Given the description of an element on the screen output the (x, y) to click on. 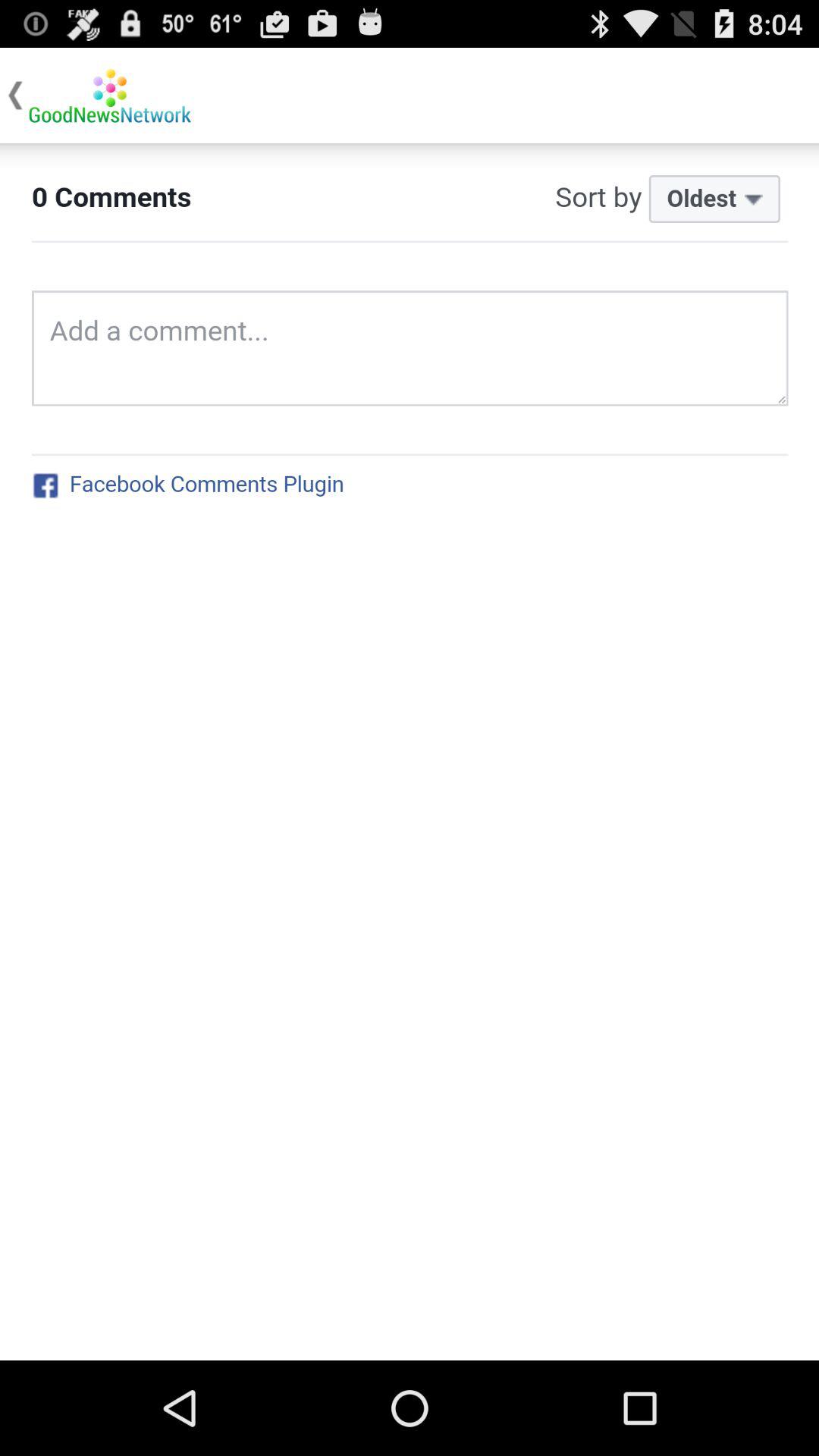
descrtiption (409, 751)
